Given the description of an element on the screen output the (x, y) to click on. 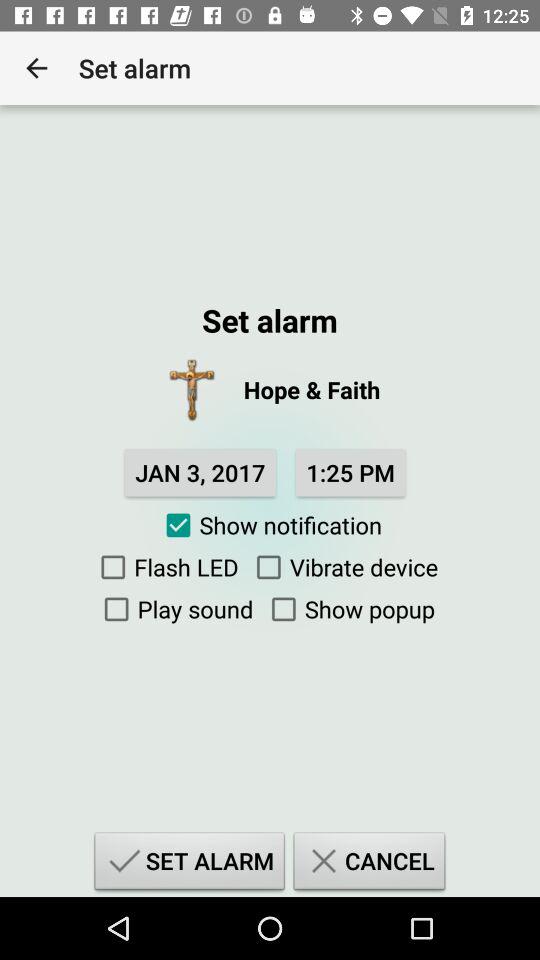
tap the icon to the left of 1:25 pm icon (200, 472)
